Given the description of an element on the screen output the (x, y) to click on. 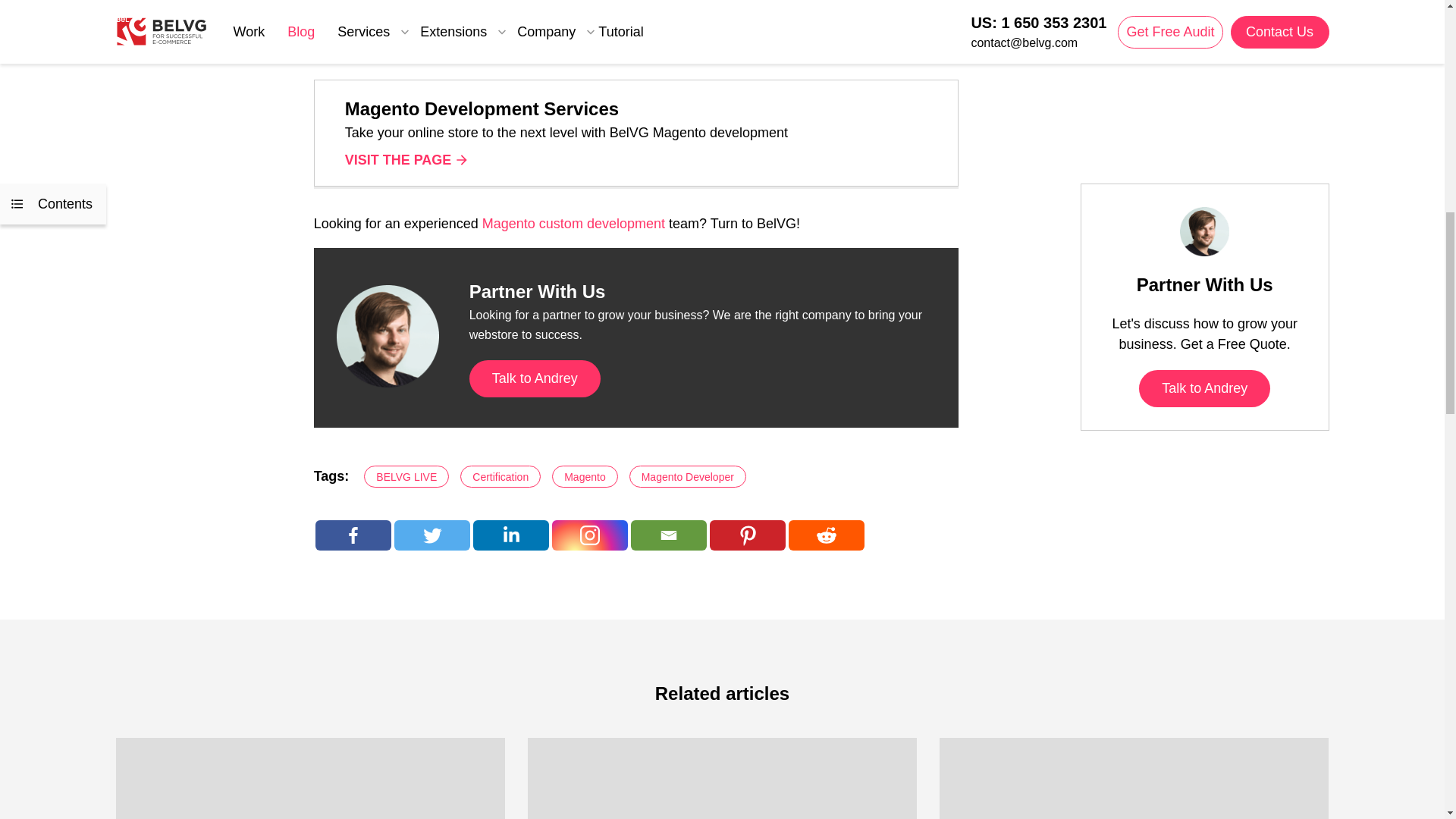
Facebook (353, 535)
Email (668, 535)
Pinterest (748, 535)
Instagram (589, 535)
Twitter (432, 535)
Linkedin (510, 535)
Reddit (826, 535)
